Given the description of an element on the screen output the (x, y) to click on. 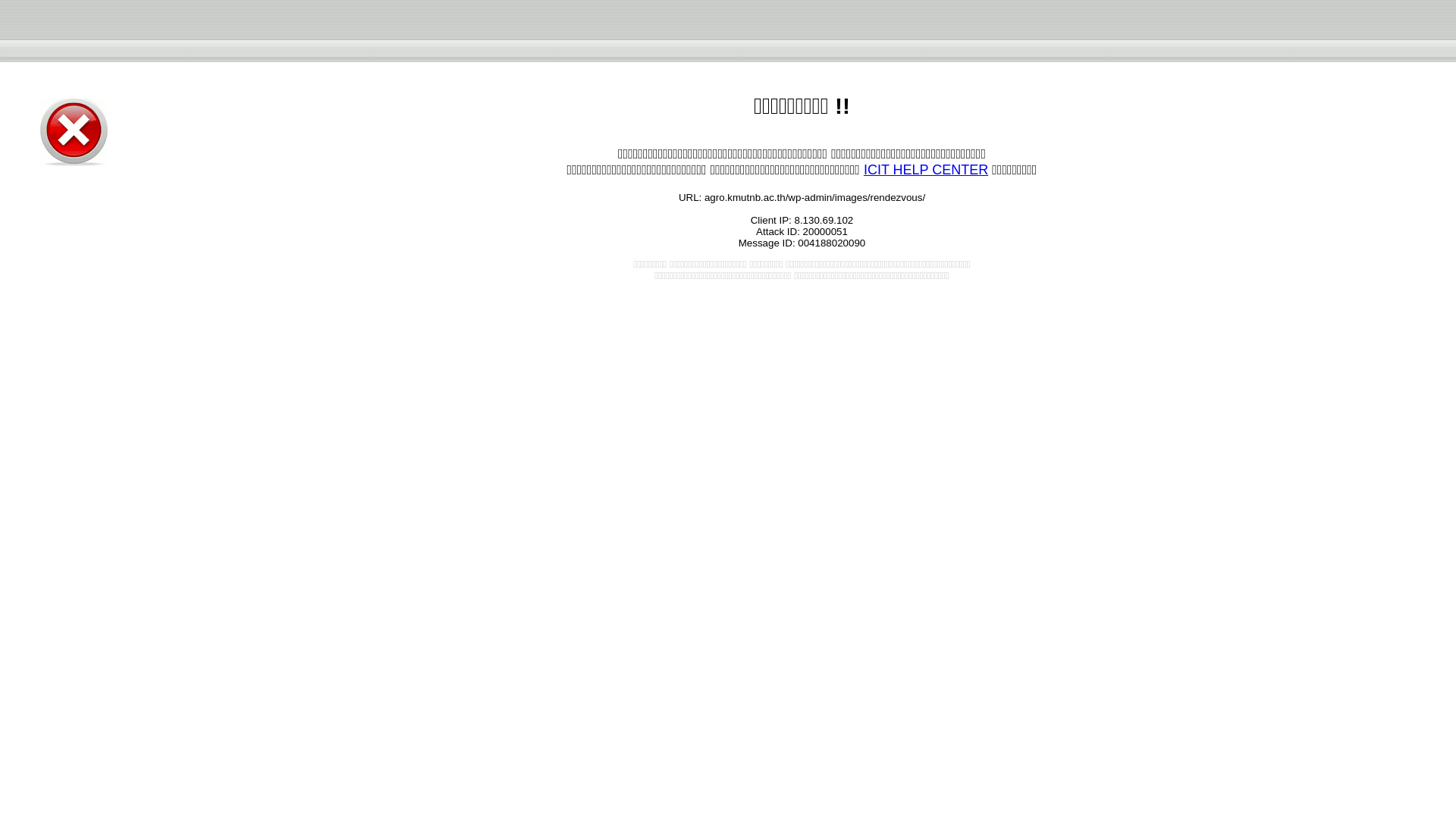
ICIT HELP CENTER (925, 169)
